Given the description of an element on the screen output the (x, y) to click on. 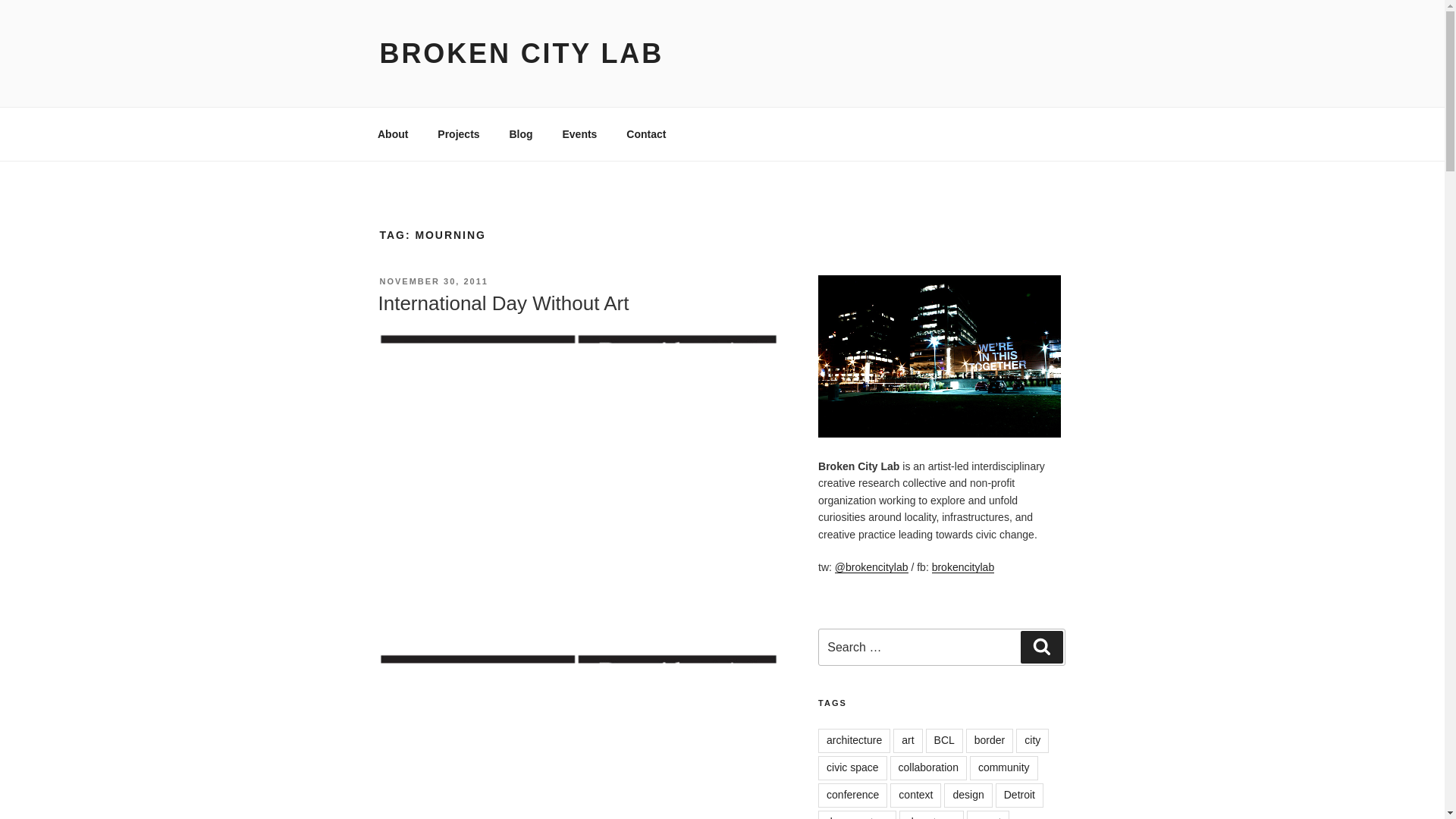
DWA-Big-poster-2011 (577, 736)
context (914, 794)
BCL (944, 740)
BROKEN CITY LAB (520, 52)
civic space (852, 767)
International Day Without Art (502, 302)
Search (1041, 646)
conference (852, 794)
architecture (853, 740)
city (1032, 740)
event (987, 814)
design (967, 794)
documentary (857, 814)
brokencitylab (962, 567)
downtown (931, 814)
